Given the description of an element on the screen output the (x, y) to click on. 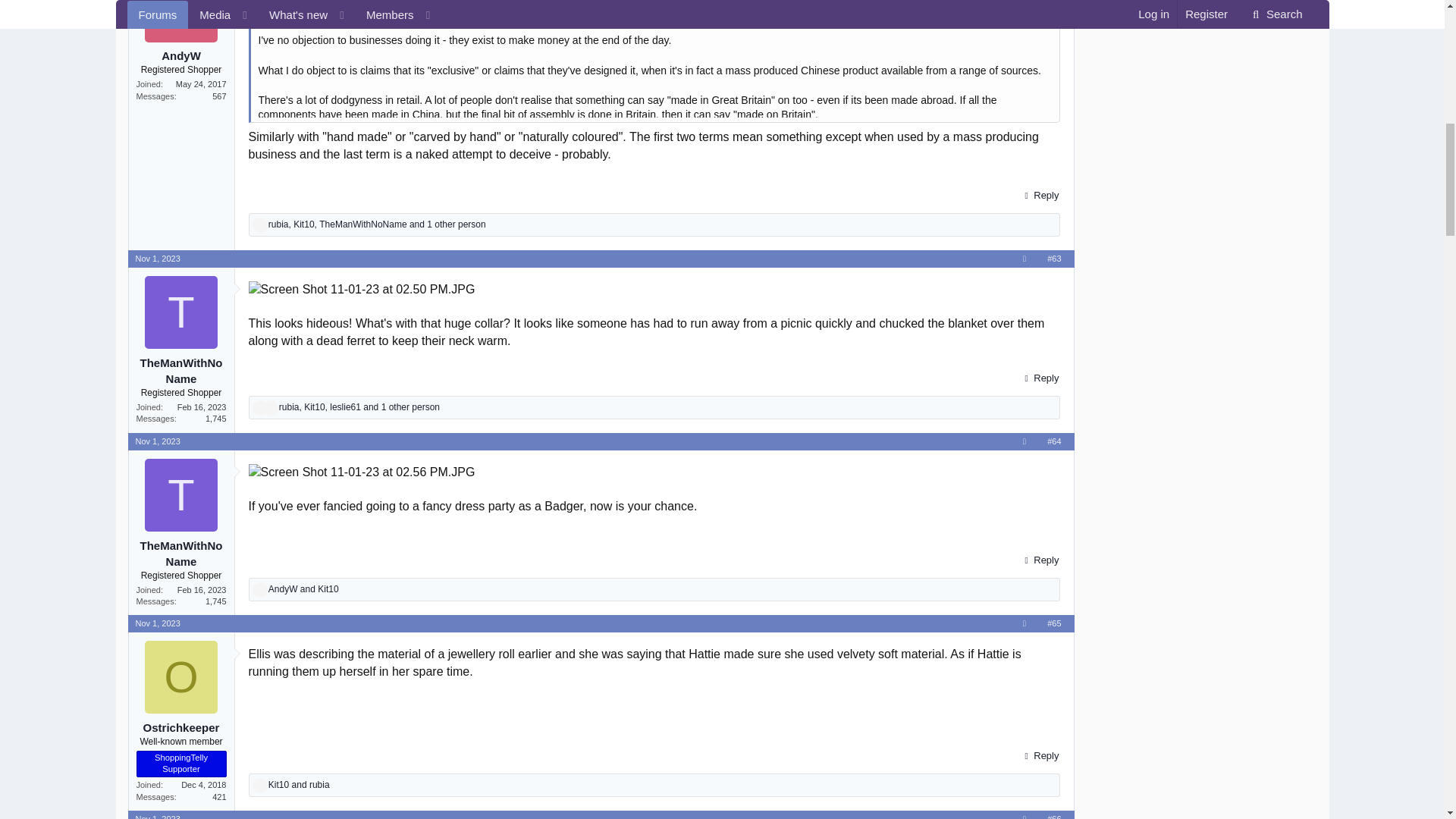
Like (258, 408)
Reply, quoting this message (1039, 195)
Nov 1, 2023 at 2:53 PM (157, 257)
Screen Shot 11-01-23 at 02.50 PM.JPG (362, 289)
Reply, quoting this message (1039, 378)
Like (258, 224)
